Given the description of an element on the screen output the (x, y) to click on. 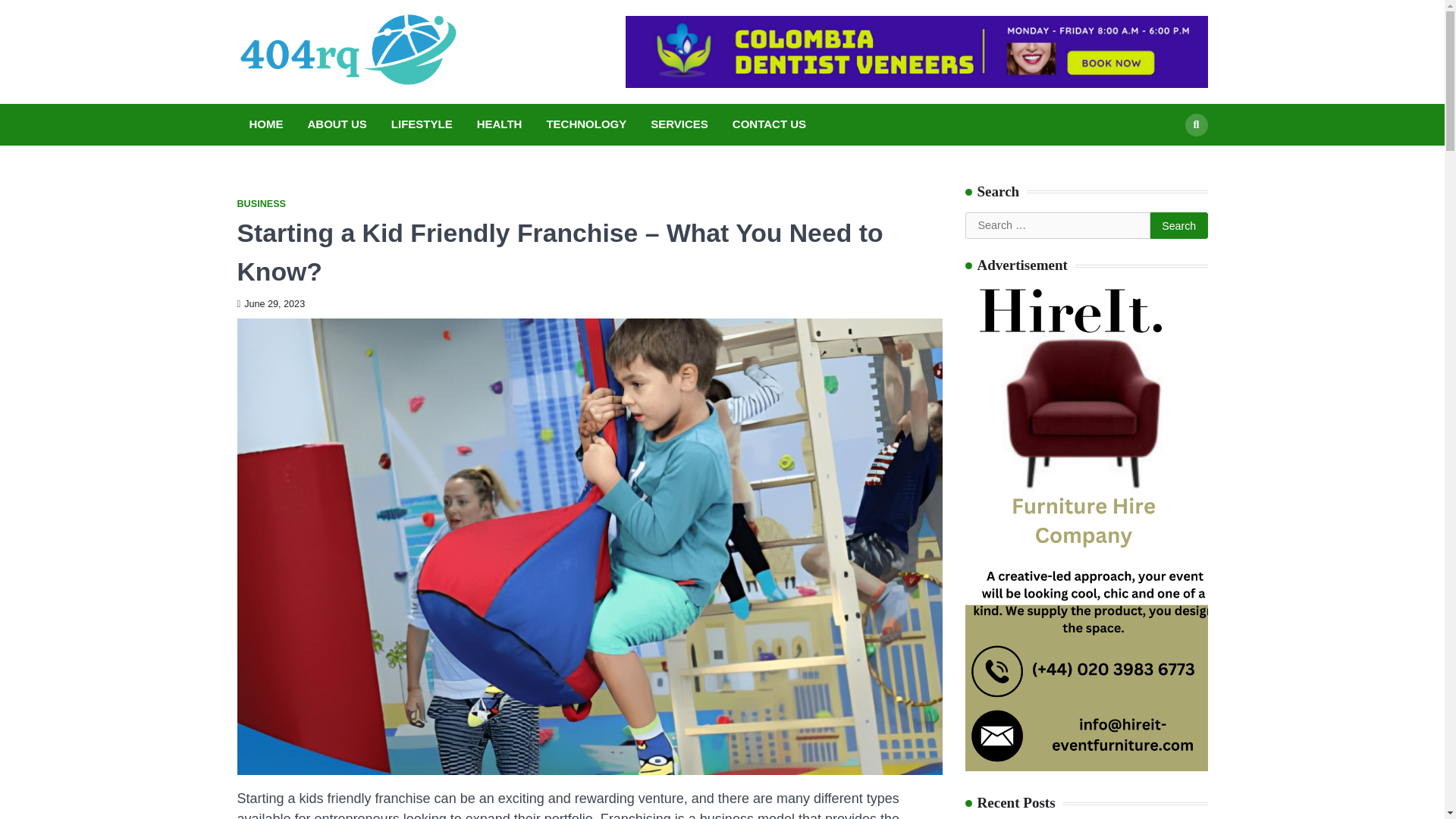
Search (1179, 225)
HEALTH (499, 124)
ABOUT US (336, 124)
Search (1179, 225)
BUSINESS (260, 204)
CONTACT US (769, 124)
HOME (265, 124)
Search (1179, 225)
404rq (500, 67)
Search (1196, 124)
